Given the description of an element on the screen output the (x, y) to click on. 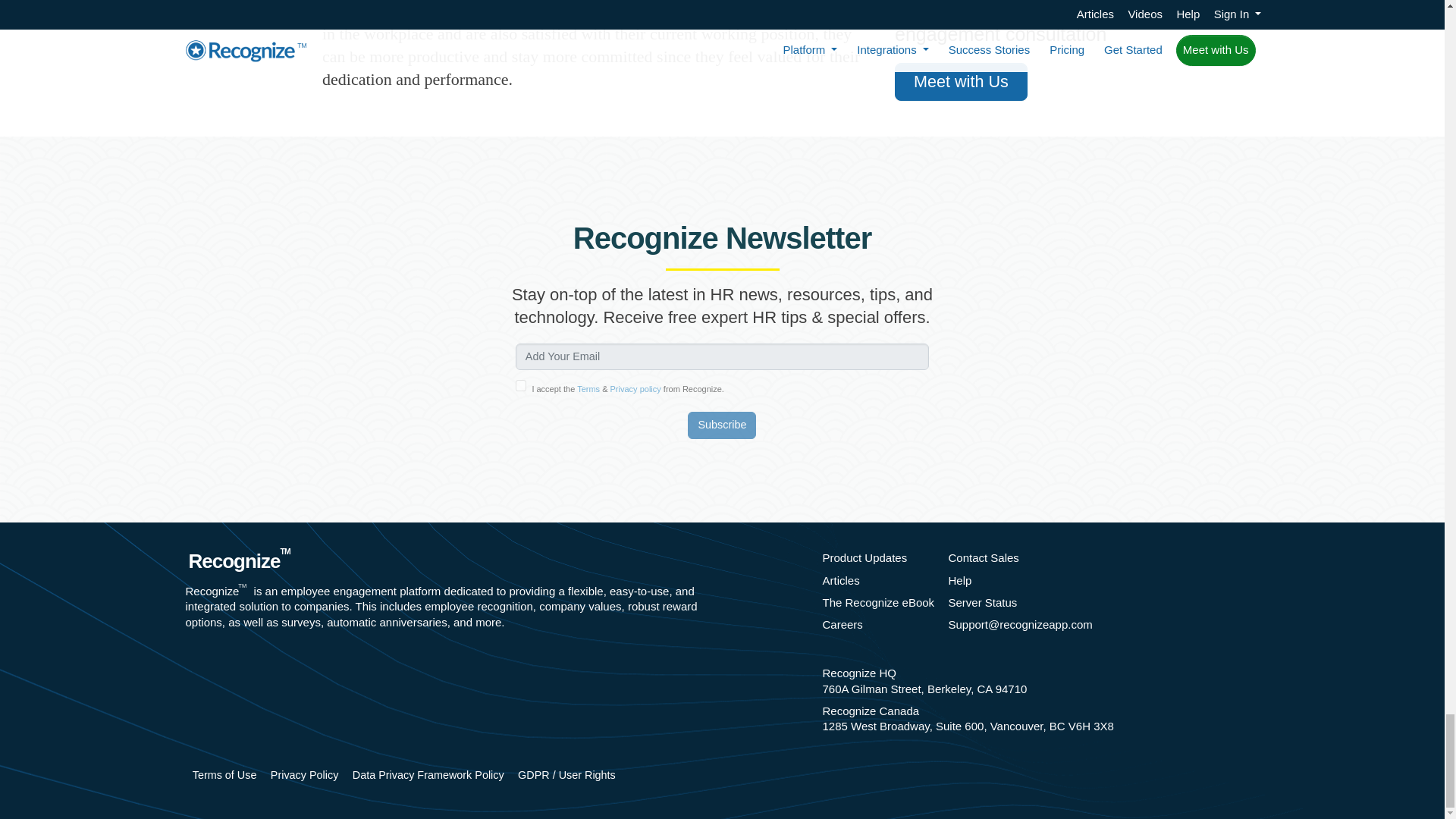
Subscribe (721, 424)
